Given the description of an element on the screen output the (x, y) to click on. 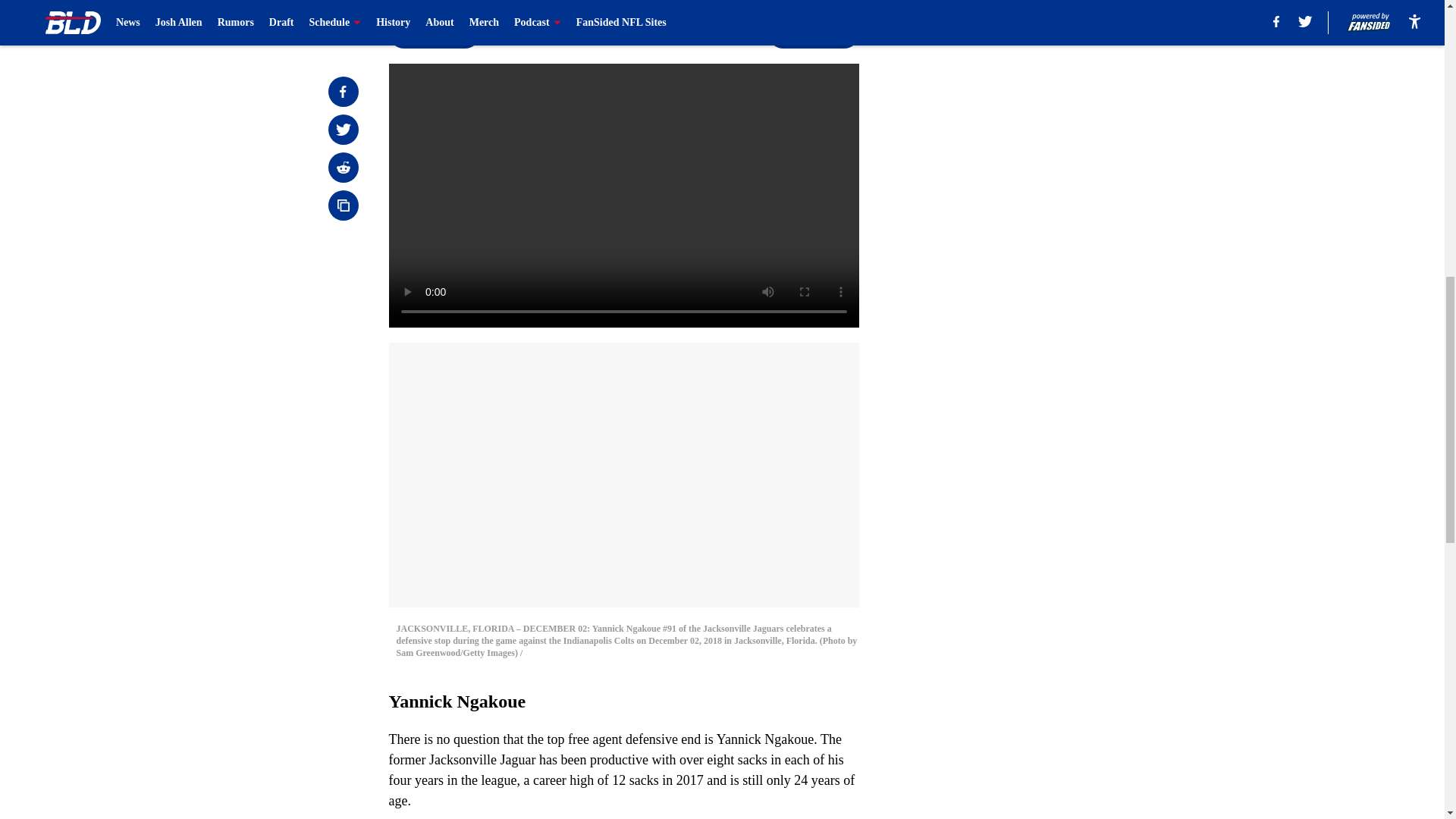
Prev (433, 33)
3rd party ad content (1047, 113)
3rd party ad content (1047, 332)
Next (813, 33)
